Given the description of an element on the screen output the (x, y) to click on. 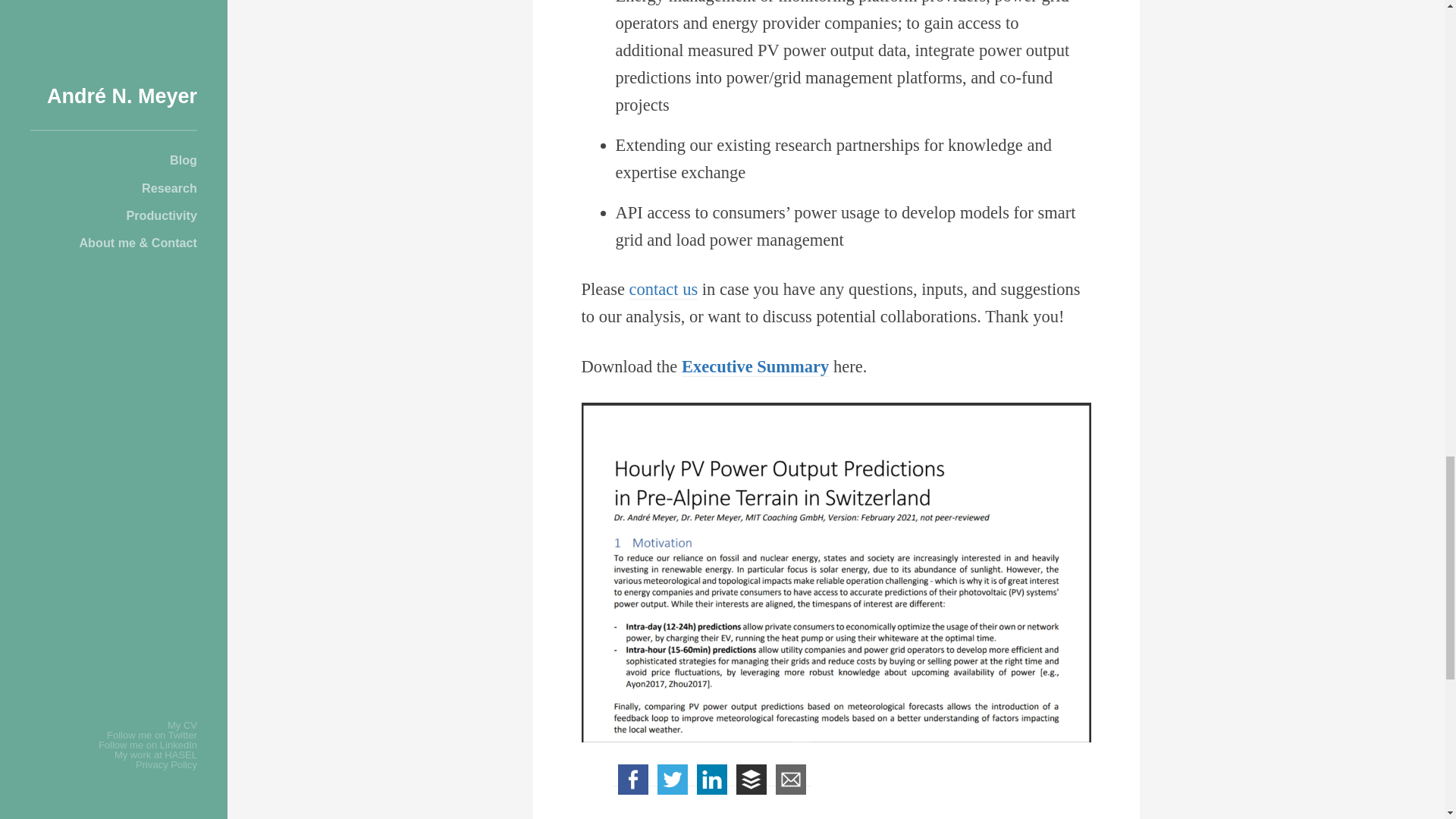
contact us (663, 289)
email (790, 779)
facebook (632, 779)
Executive Summary (754, 366)
twitter (672, 779)
buffer (751, 779)
linkedin (712, 779)
